Given the description of an element on the screen output the (x, y) to click on. 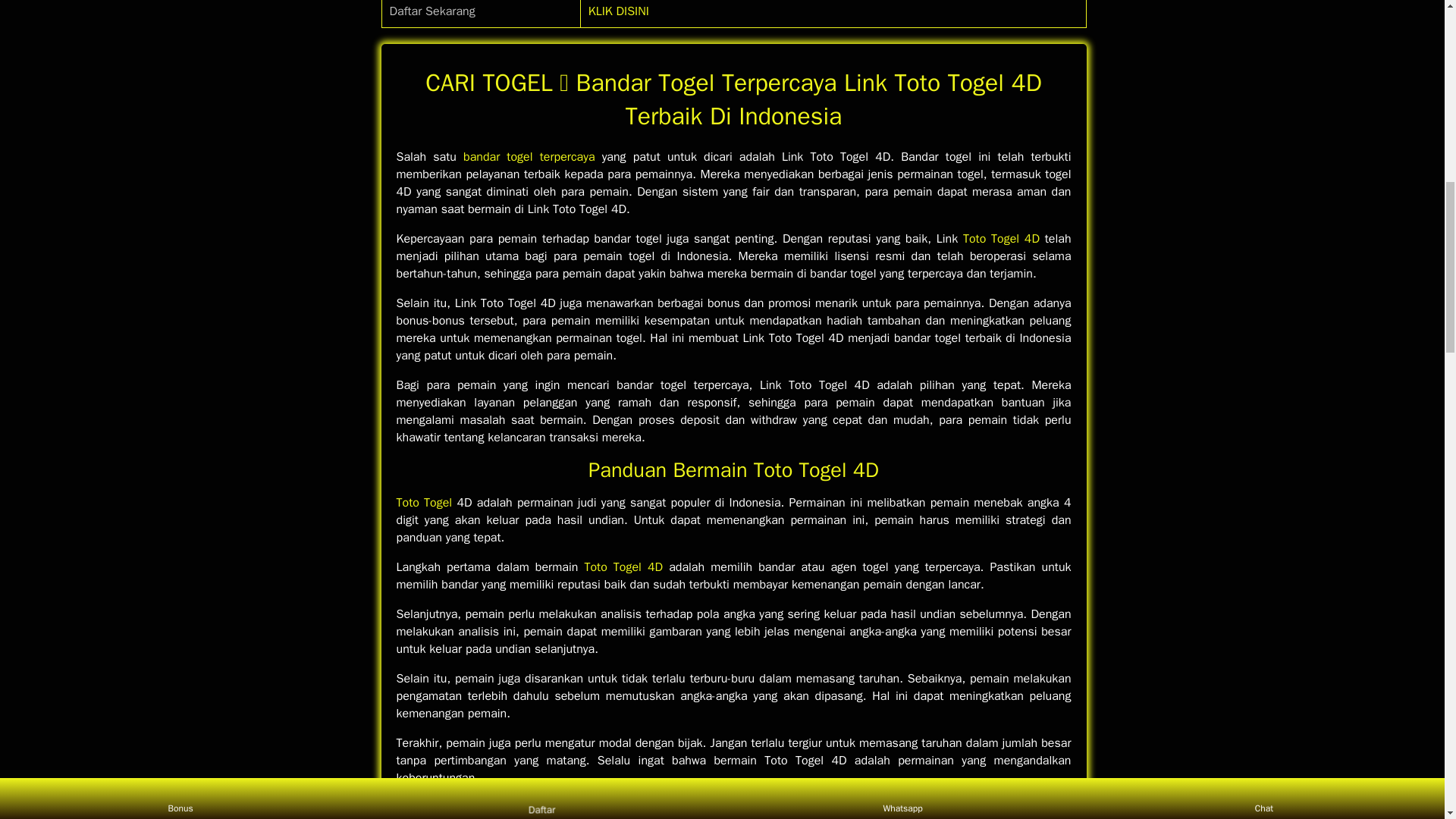
Toto Togel 4D (622, 566)
Toto Togel (423, 502)
bandar togel terpercaya (529, 156)
KLIK DISINI (618, 11)
Toto Togel 4D (1000, 238)
